Given the description of an element on the screen output the (x, y) to click on. 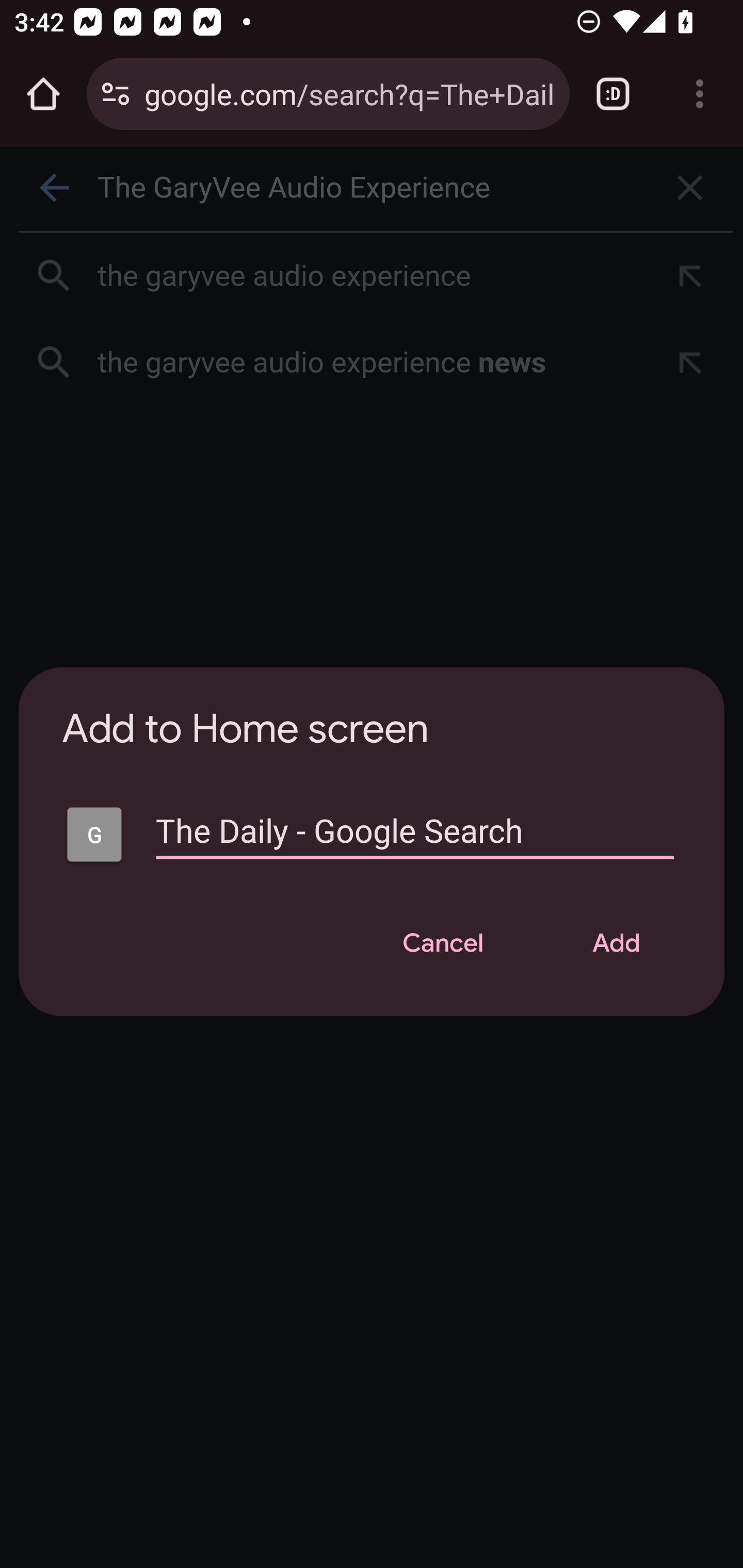
Open the home page (43, 93)
Connection is secure (115, 93)
Switch or close tabs (612, 93)
Customize and control Google Chrome (699, 93)
The Daily - Google Search (94, 834)
The Daily - Google Search (414, 839)
Cancel (442, 943)
Add (615, 943)
